Given the description of an element on the screen output the (x, y) to click on. 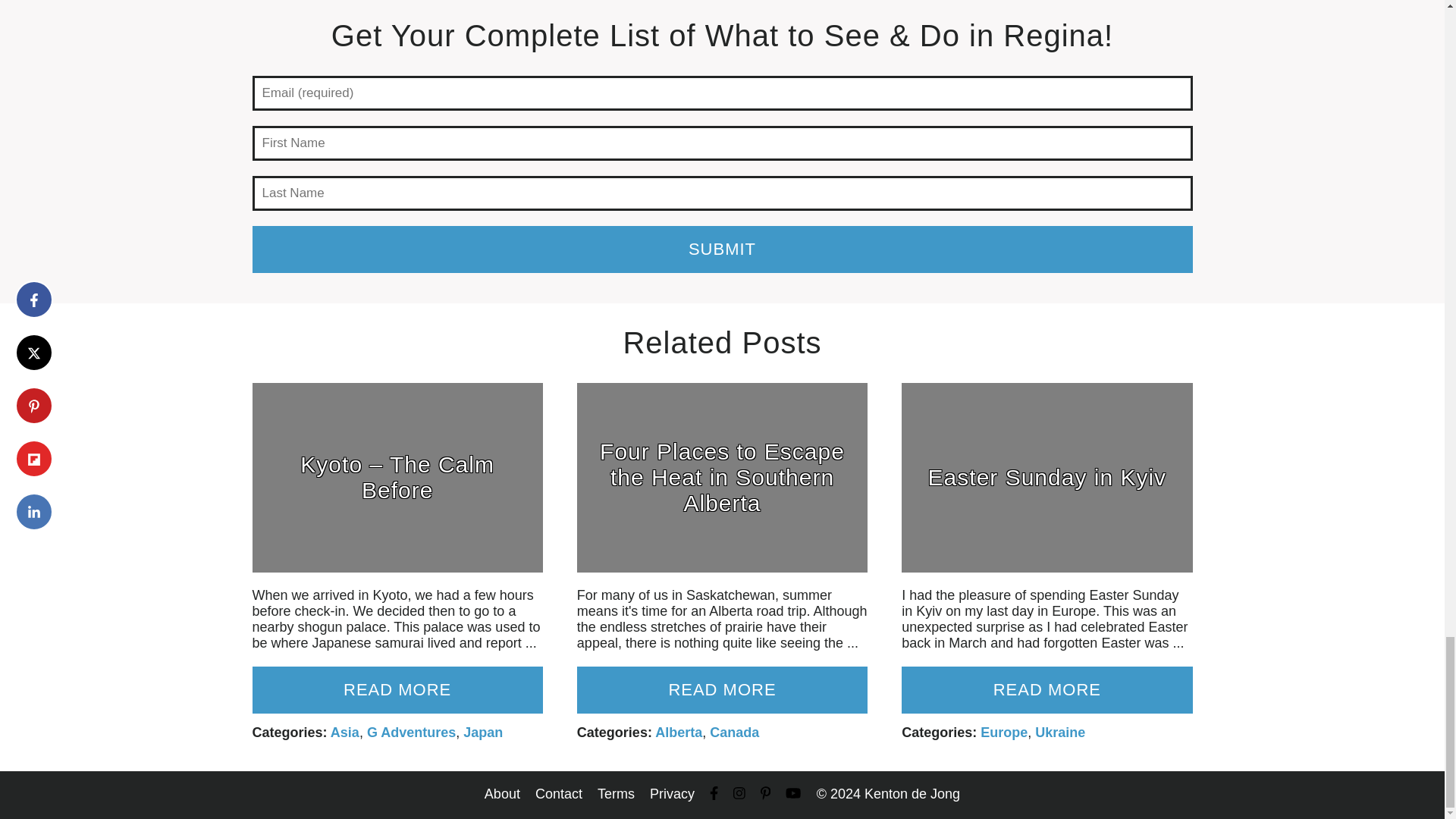
READ MORE (1046, 689)
Submit (721, 249)
Japan (482, 732)
Alberta (678, 732)
Four Places to Escape the Heat in Southern Alberta (721, 477)
Easter Sunday in Kyiv (1046, 477)
Asia (344, 732)
Submit (721, 249)
READ MORE (396, 689)
Canada (734, 732)
READ MORE (721, 689)
G Adventures (410, 732)
